Given the description of an element on the screen output the (x, y) to click on. 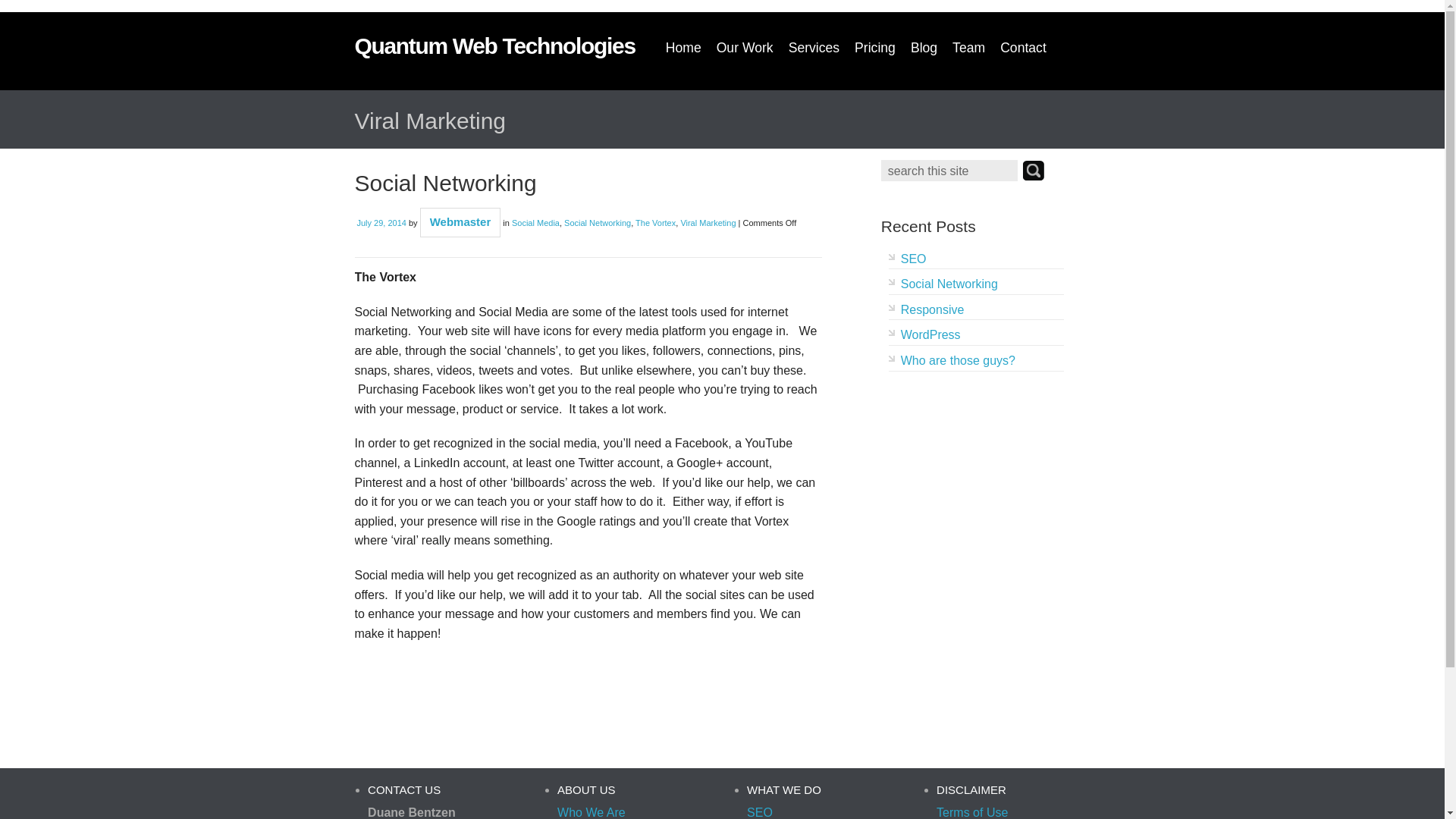
Viral Marketing (707, 222)
Our Work (744, 47)
Permalink to Social Networking (446, 182)
SEO (759, 812)
Social Networking (446, 182)
Webmaster (460, 221)
9:00 pm (381, 222)
Who We Are (591, 812)
WordPress (930, 334)
SEO (913, 258)
Blog (923, 47)
Terms of Use (971, 812)
Services (813, 47)
July 29, 2014 (381, 222)
